Given the description of an element on the screen output the (x, y) to click on. 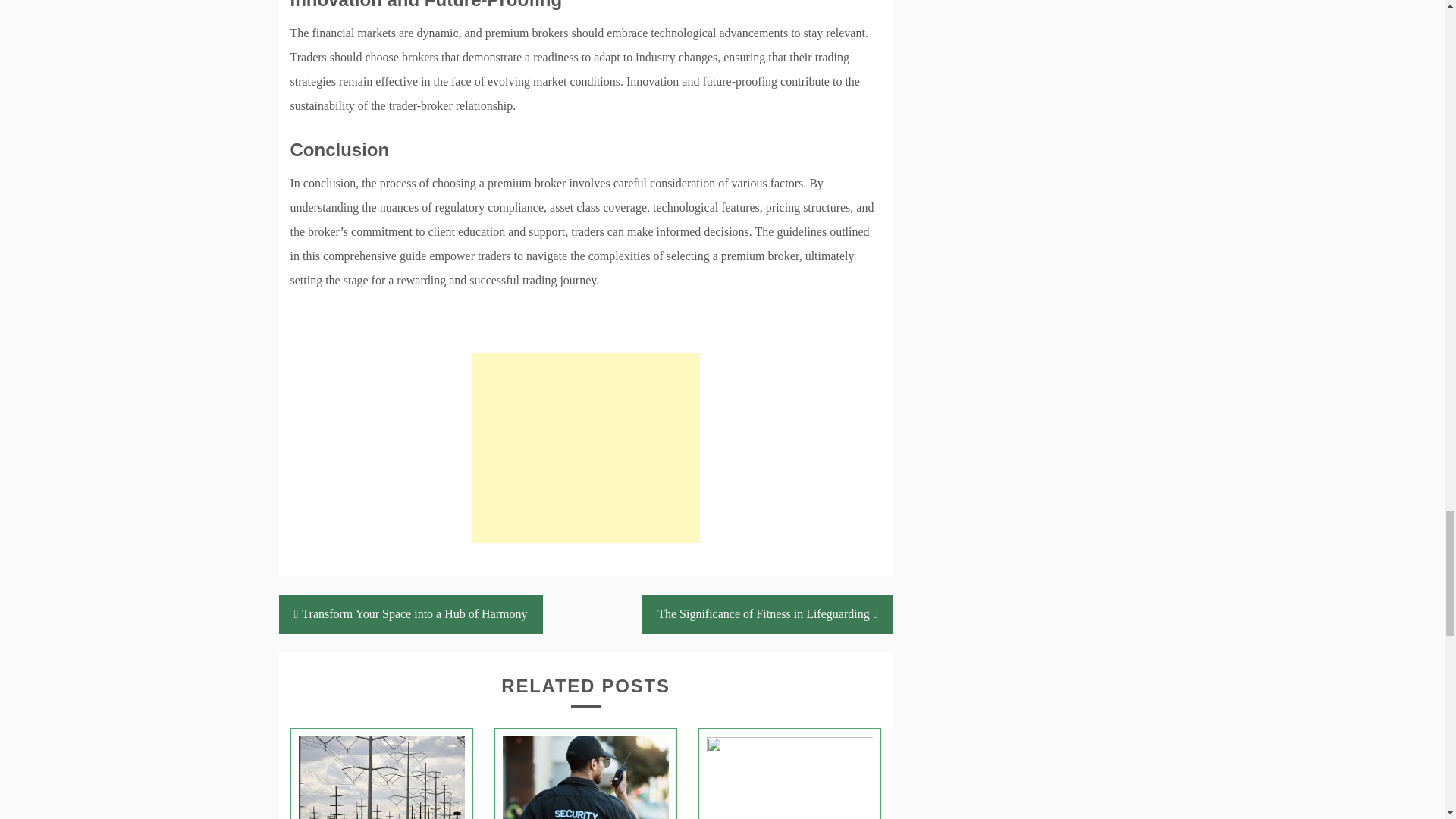
The Significance of Fitness in Lifeguarding (767, 613)
Transform Your Space into a Hub of Harmony (411, 613)
